Given the description of an element on the screen output the (x, y) to click on. 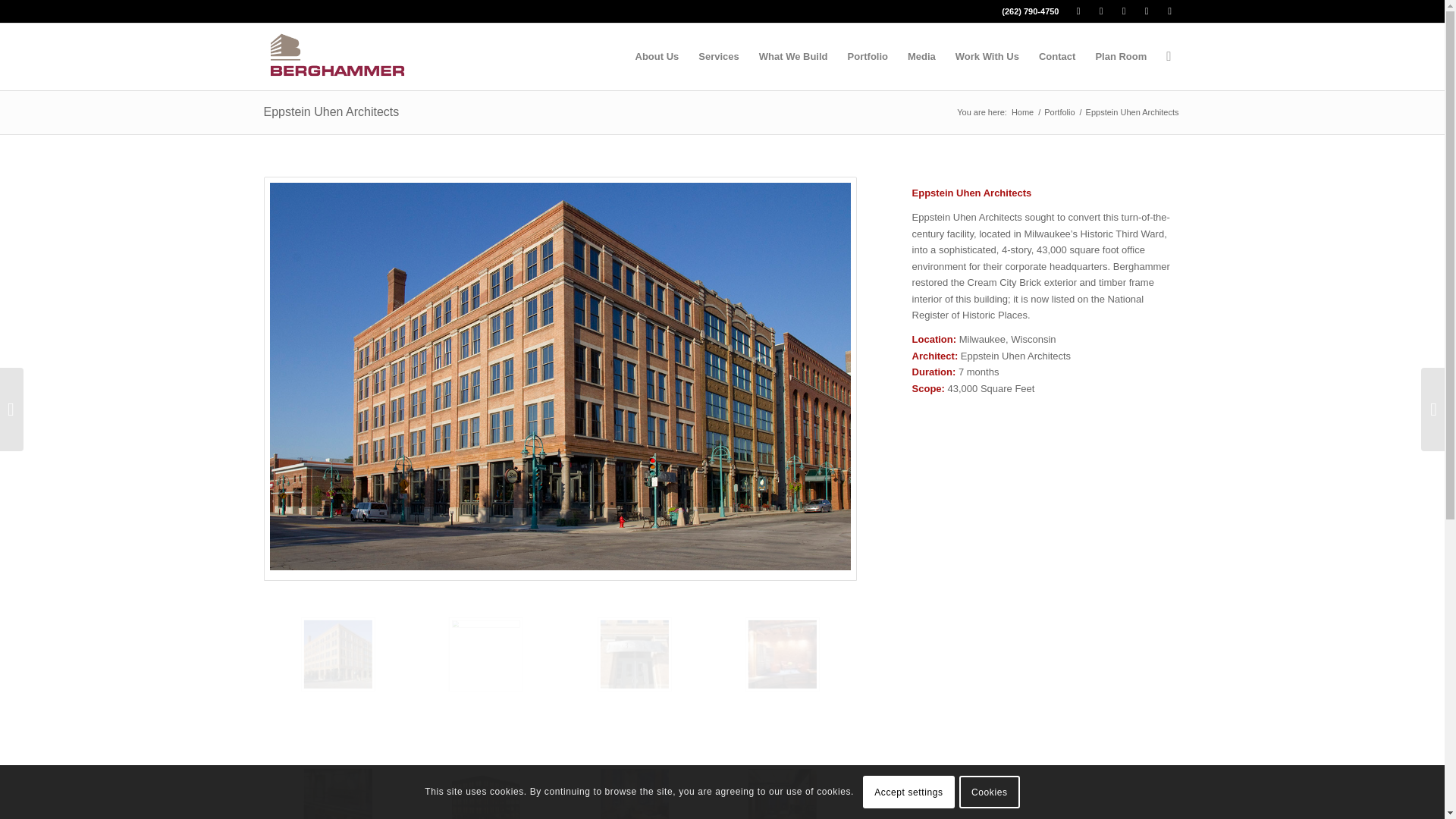
LinkedIn (1124, 11)
What We Build (793, 56)
Youtube (1146, 11)
Portfolio (1059, 112)
Eppstein Uhen Exterior (373, 691)
Berghammer Construction Corporation (1022, 112)
Eppstein Uhen Reception (486, 653)
Mail (1169, 11)
Facebook (1078, 11)
Portfolio (868, 56)
